Given the description of an element on the screen output the (x, y) to click on. 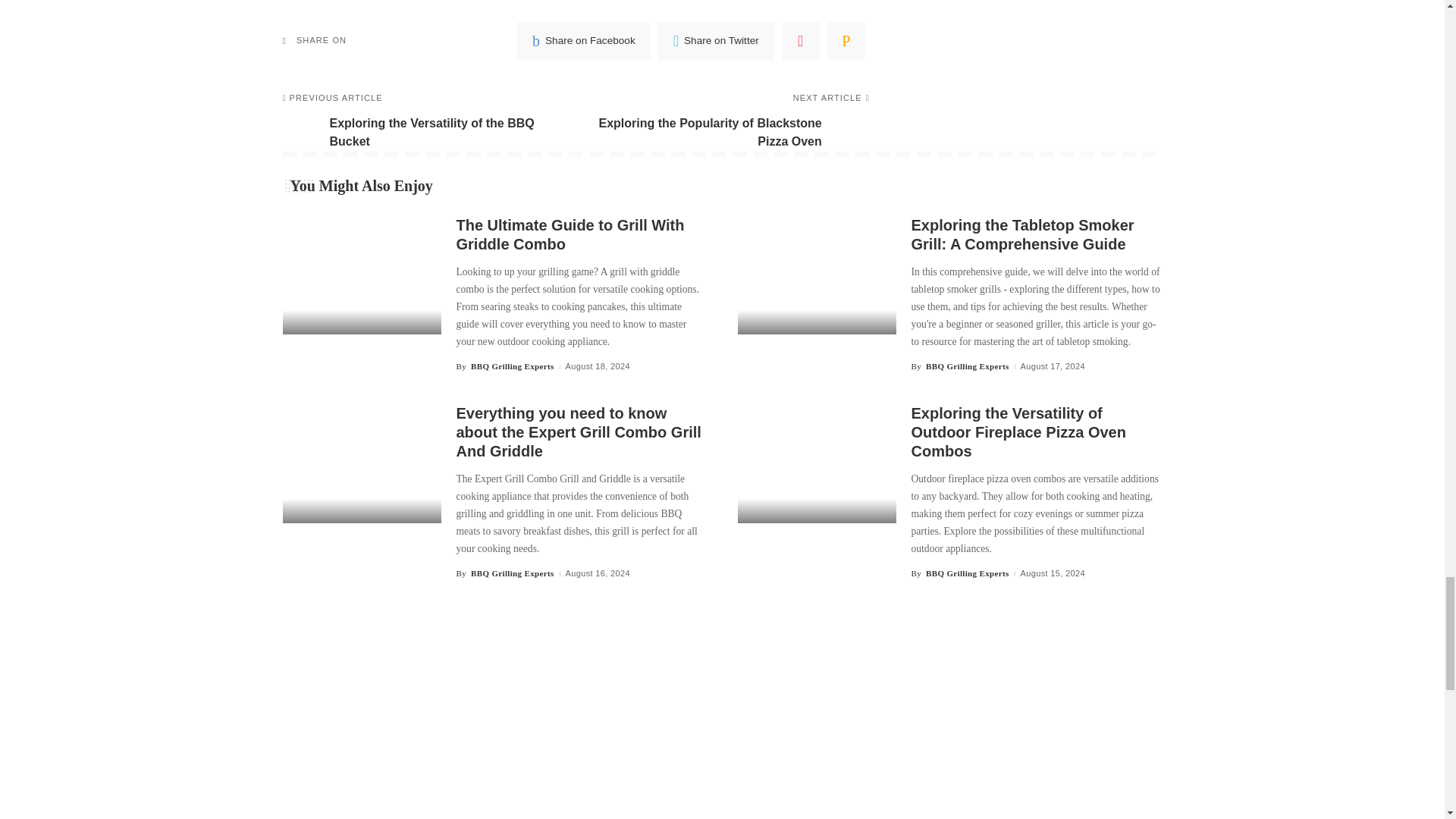
Share on Twitter (716, 40)
Share on Facebook (421, 122)
